Given the description of an element on the screen output the (x, y) to click on. 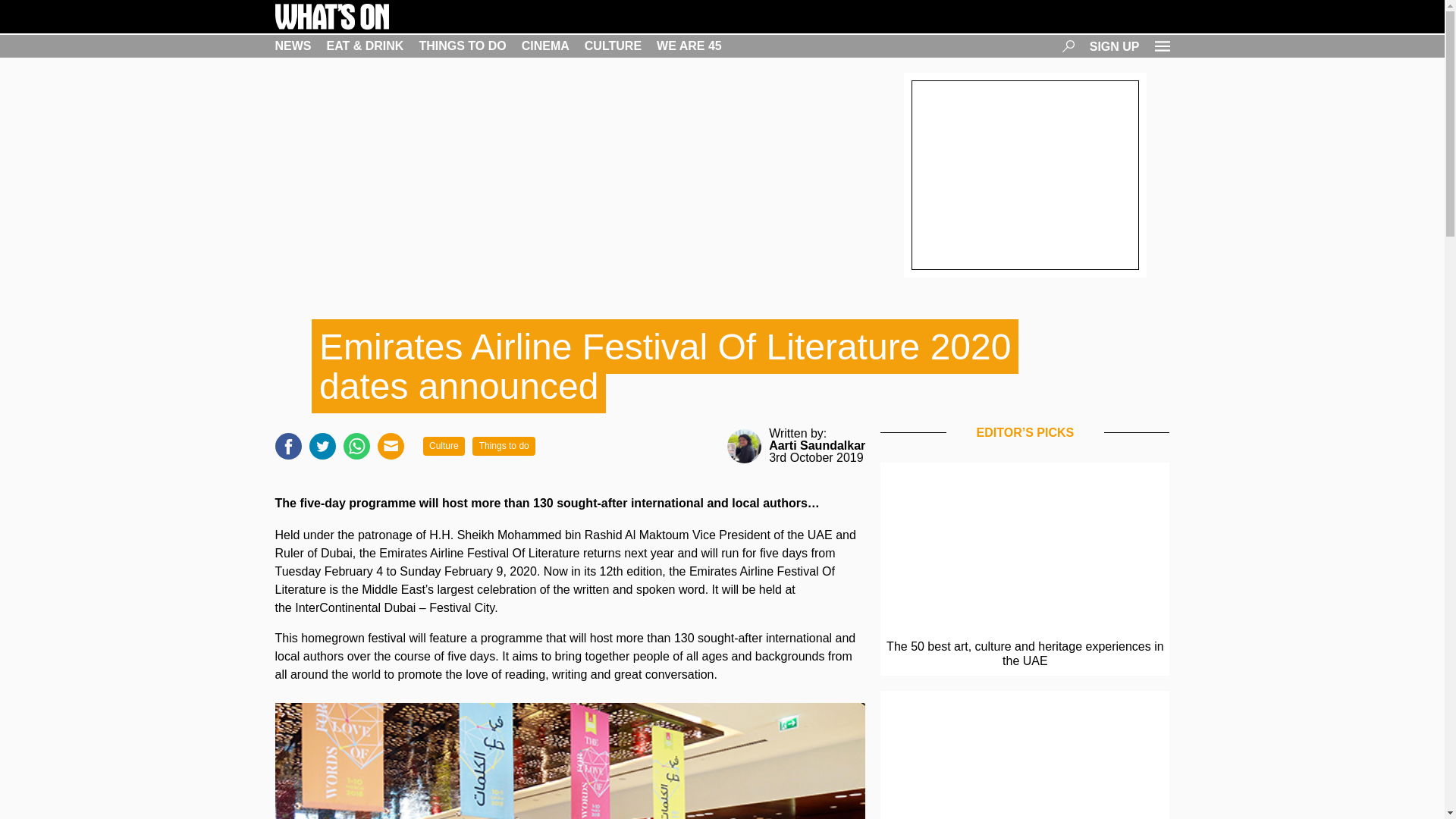
THINGS TO DO (462, 45)
CULTURE (613, 45)
CINEMA (545, 45)
SIGN UP (1114, 45)
WE ARE 45 (689, 45)
NEWS (293, 45)
